Given the description of an element on the screen output the (x, y) to click on. 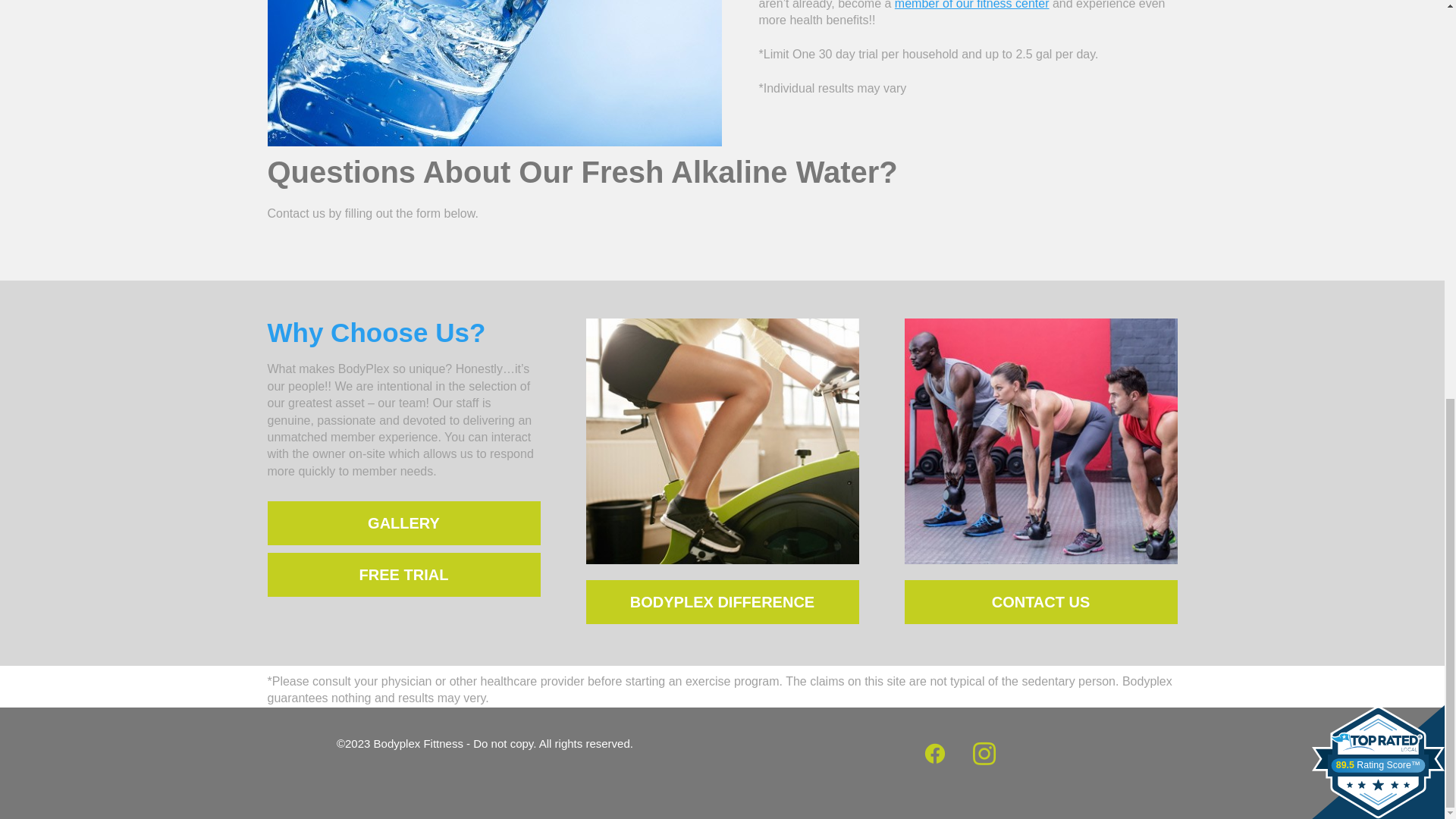
BODYPLEX DIFFERENCE (722, 601)
FREE TRIAL (403, 574)
GALLERY (403, 523)
member of our fitness center (972, 4)
CONTACT US (1040, 601)
